Given the description of an element on the screen output the (x, y) to click on. 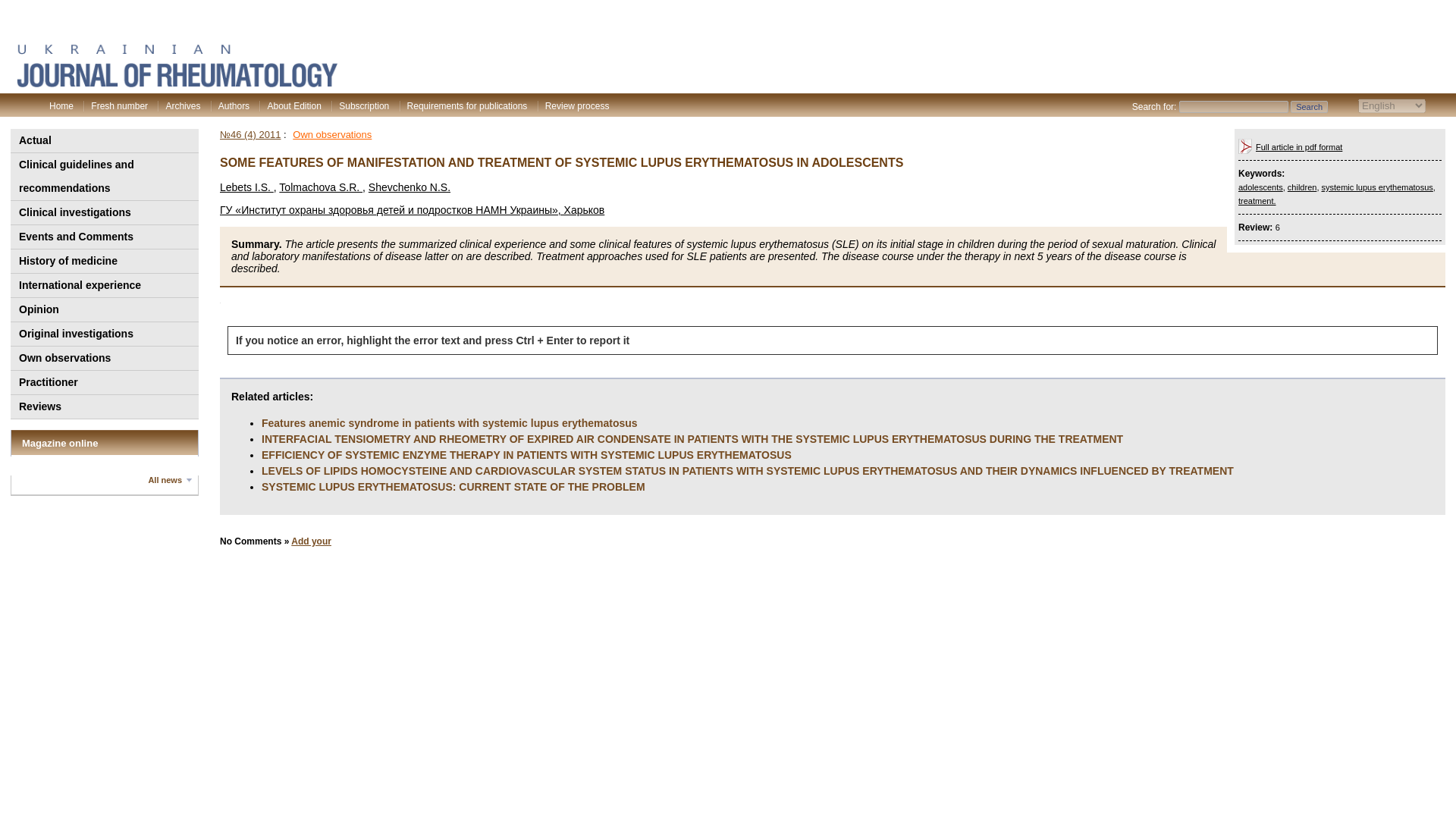
Clinical guidelines and recommendations (103, 176)
Practitioner (103, 382)
Search (1308, 106)
All news (170, 479)
International experience (103, 285)
Own observations (331, 134)
Tolmachova S.R. (320, 186)
Search (1308, 106)
Reviews (103, 406)
Shevchenko N.S. (408, 186)
Own observations (103, 358)
Magazine online (59, 442)
SYSTEMIC LUPUS ERYTHEMATOSUS: CURRENT STATE OF THE PROBLEM (453, 486)
